Given the description of an element on the screen output the (x, y) to click on. 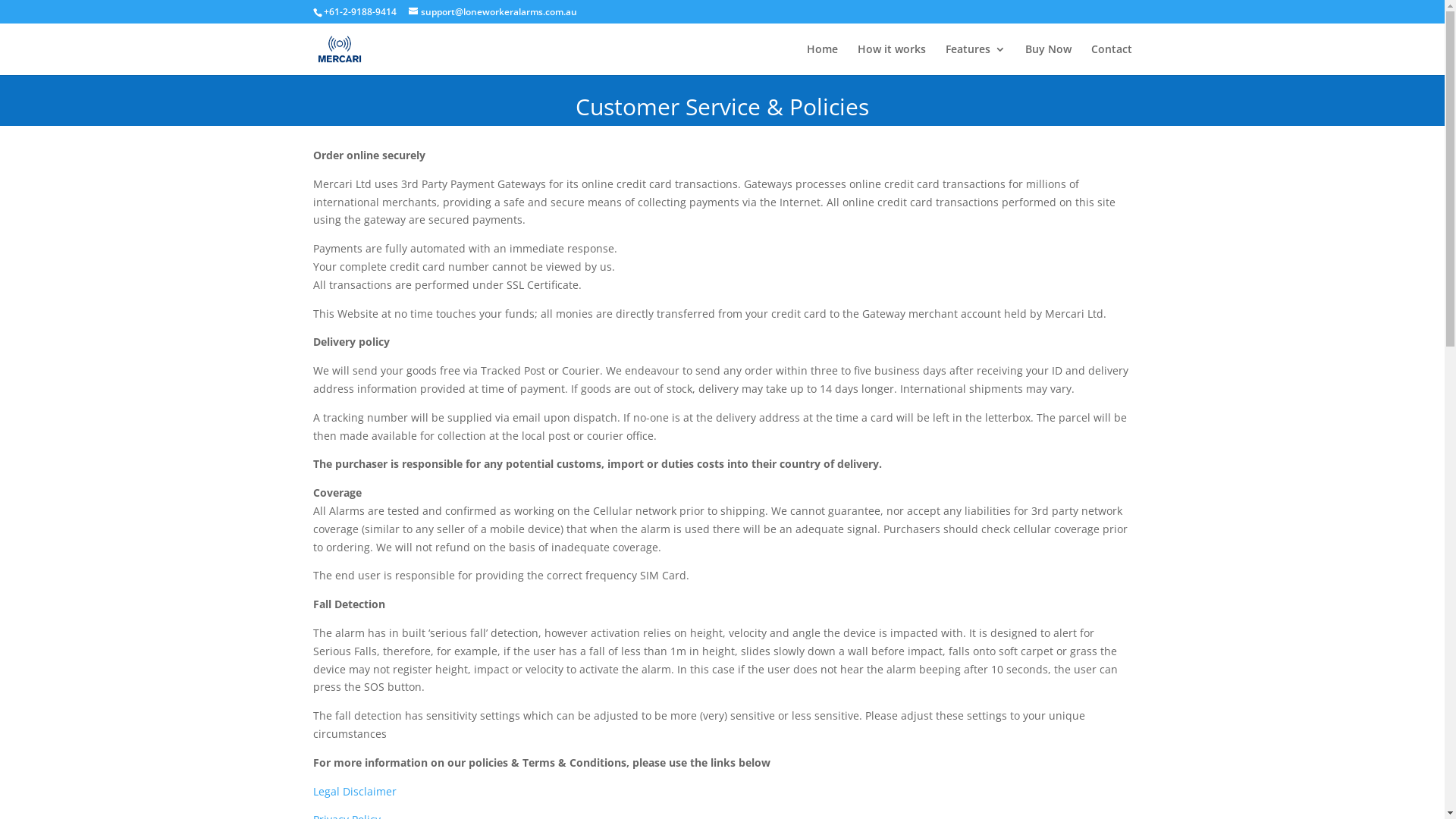
How it works Element type: text (890, 59)
Home Element type: text (821, 59)
support@loneworkeralarms.com.au Element type: text (491, 11)
Features Element type: text (974, 59)
Contact Element type: text (1110, 59)
Legal Disclaimer Element type: text (353, 791)
Buy Now Element type: text (1048, 59)
